Given the description of an element on the screen output the (x, y) to click on. 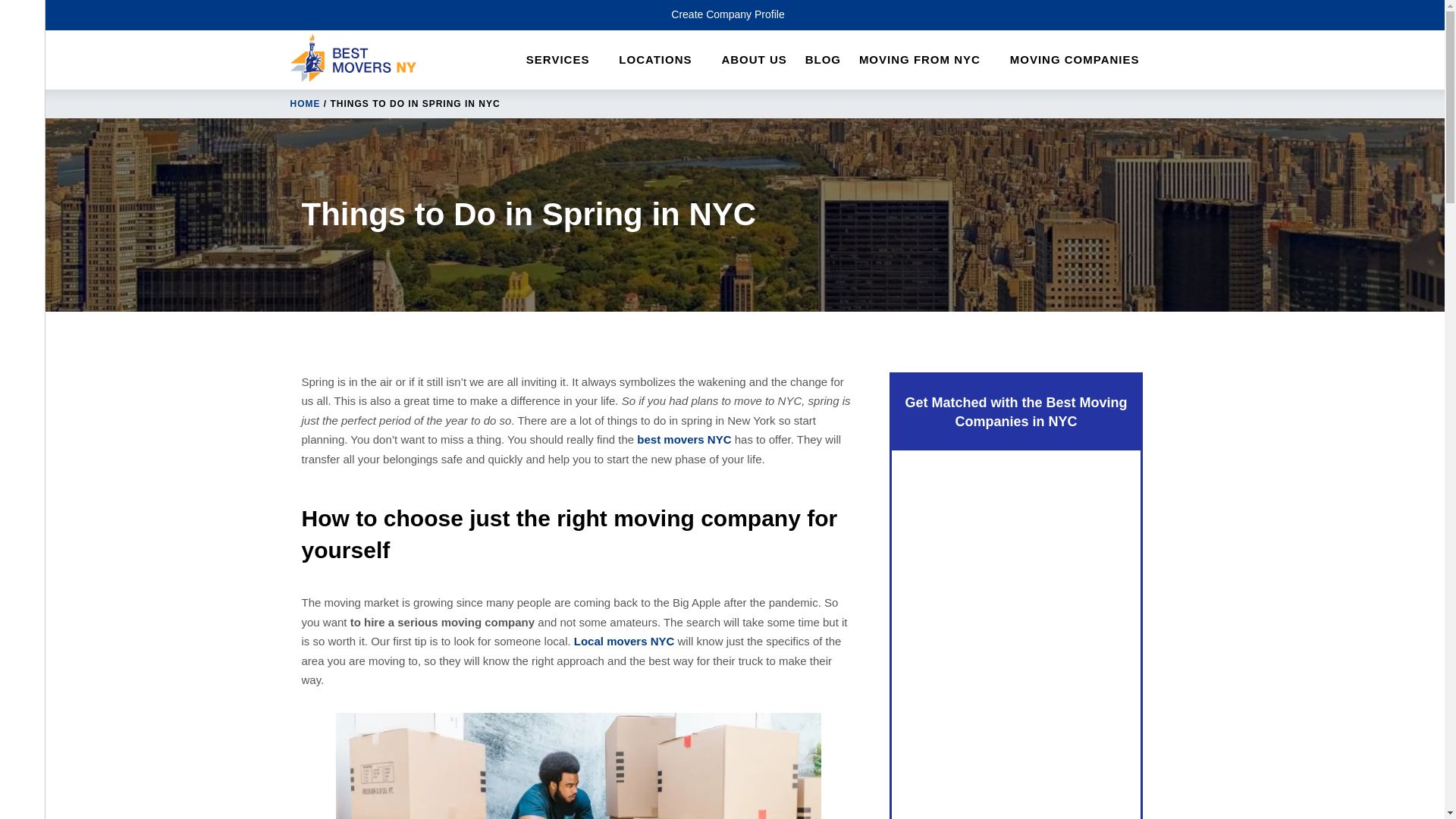
SERVICES (565, 59)
MOVING FROM NYC (927, 59)
Create Company Profile (727, 14)
ABOUT US (761, 59)
BLOG (830, 59)
LOCATIONS (662, 59)
